Given the description of an element on the screen output the (x, y) to click on. 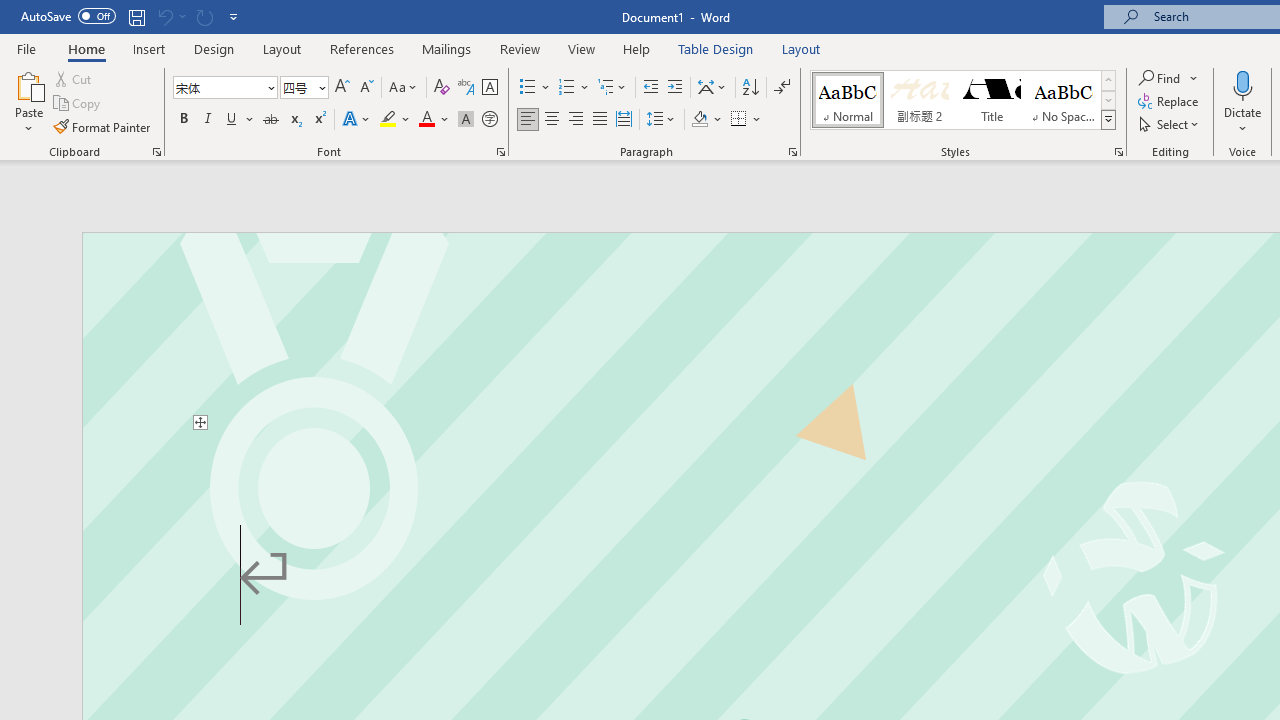
Can't Repeat (204, 15)
